Given the description of an element on the screen output the (x, y) to click on. 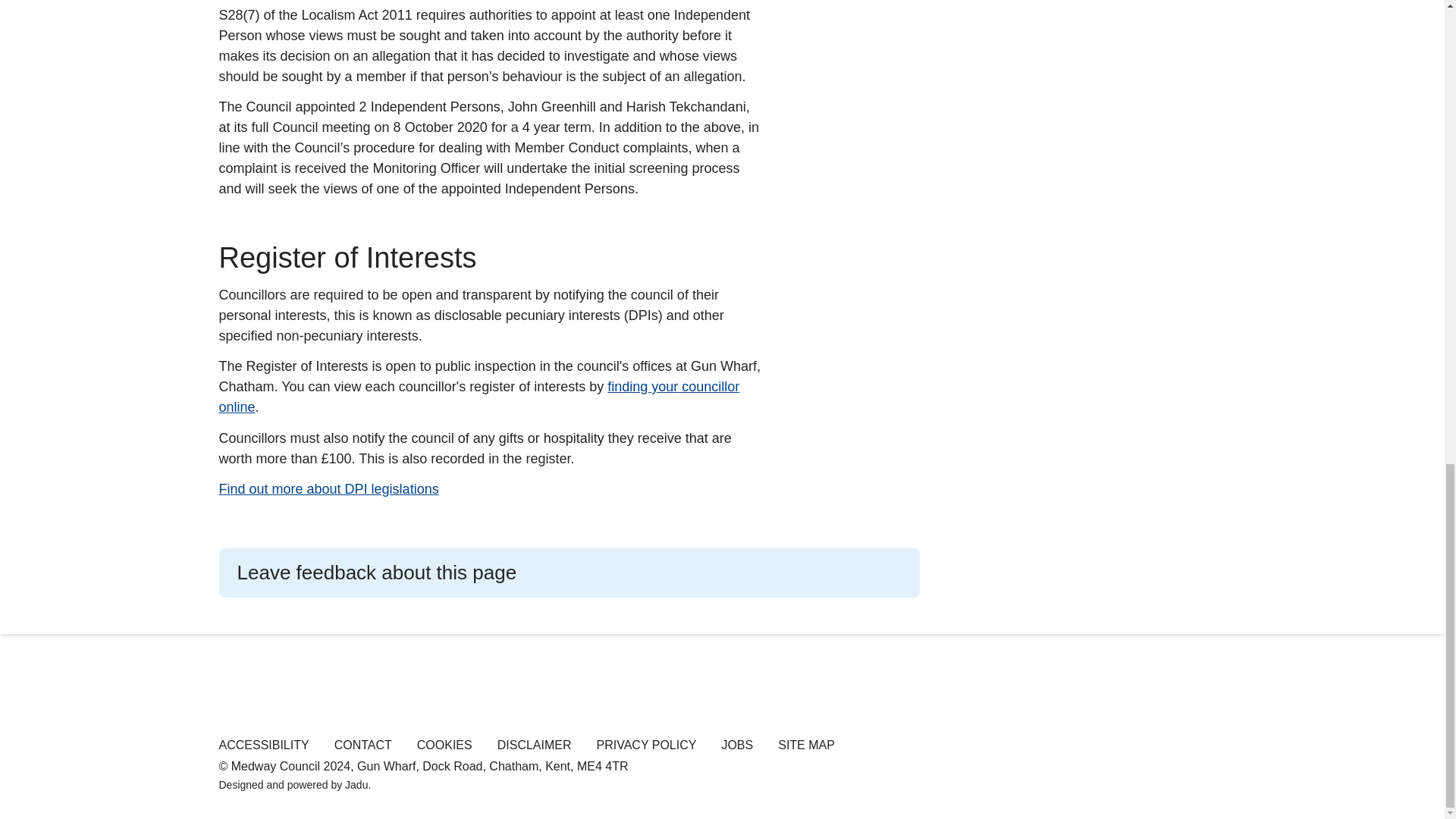
Find out more about DPI legislations (328, 489)
Leave feedback about this page (568, 572)
finding your councillor online (478, 397)
